Given the description of an element on the screen output the (x, y) to click on. 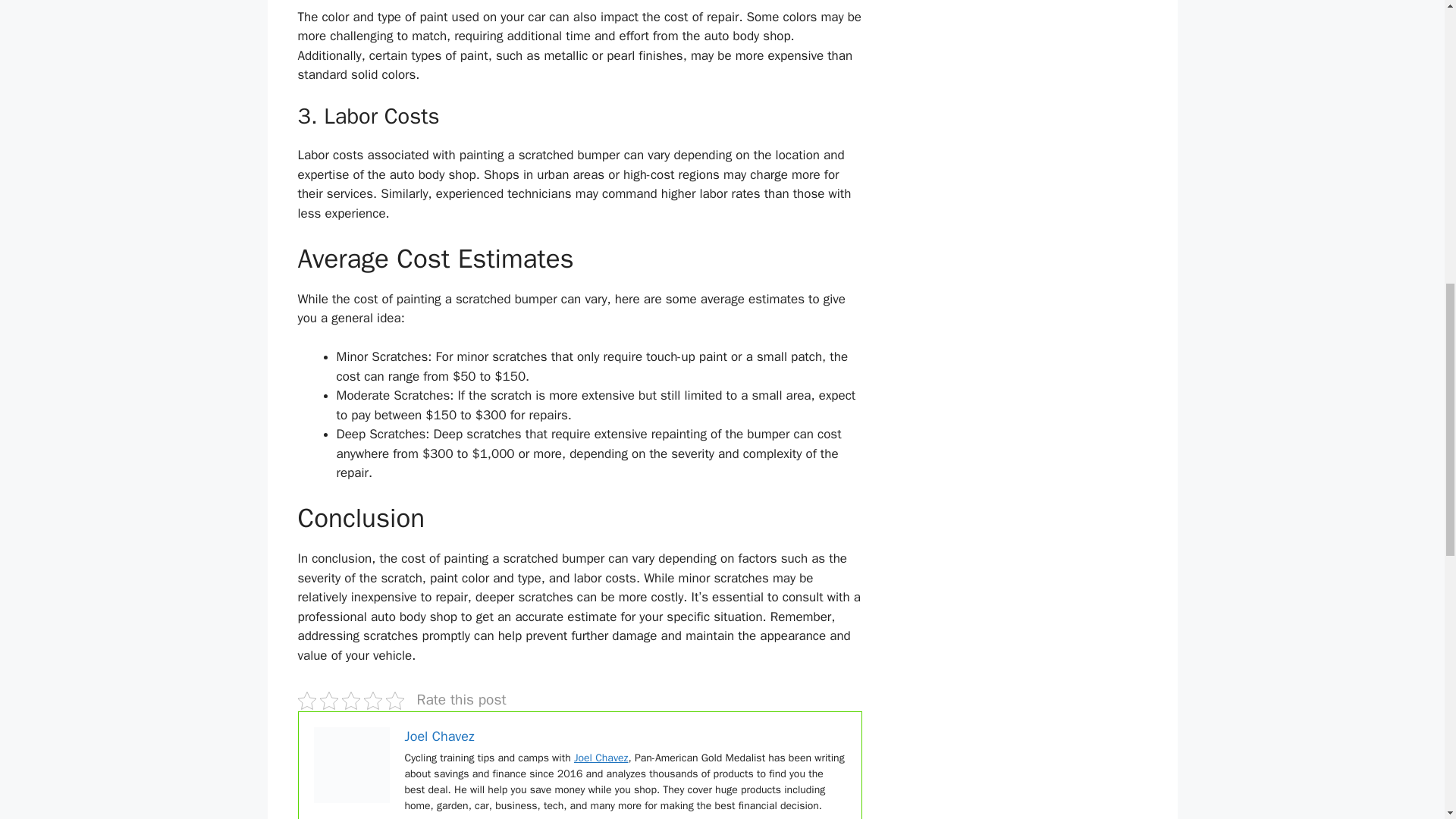
How Much Does It Cost To Paint A Scratched Bumper? 1 (352, 765)
Joel Chavez (439, 736)
Joel Chavez (600, 757)
